Given the description of an element on the screen output the (x, y) to click on. 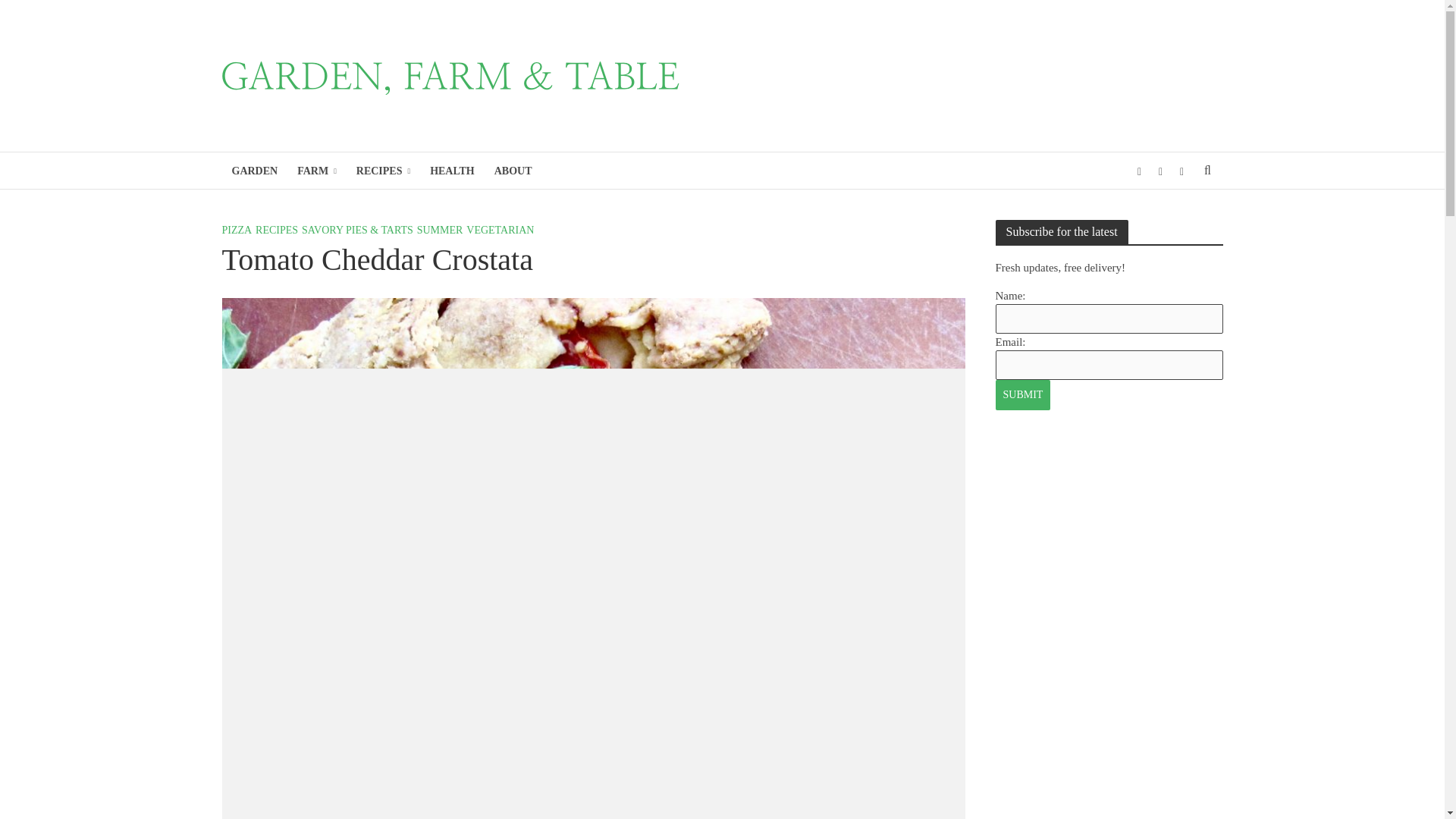
Email (1108, 365)
RECIPES (383, 171)
FARM (316, 171)
ABOUT (512, 171)
Submit (1021, 395)
GARDEN (253, 171)
Name (1108, 318)
HEALTH (452, 171)
